Given the description of an element on the screen output the (x, y) to click on. 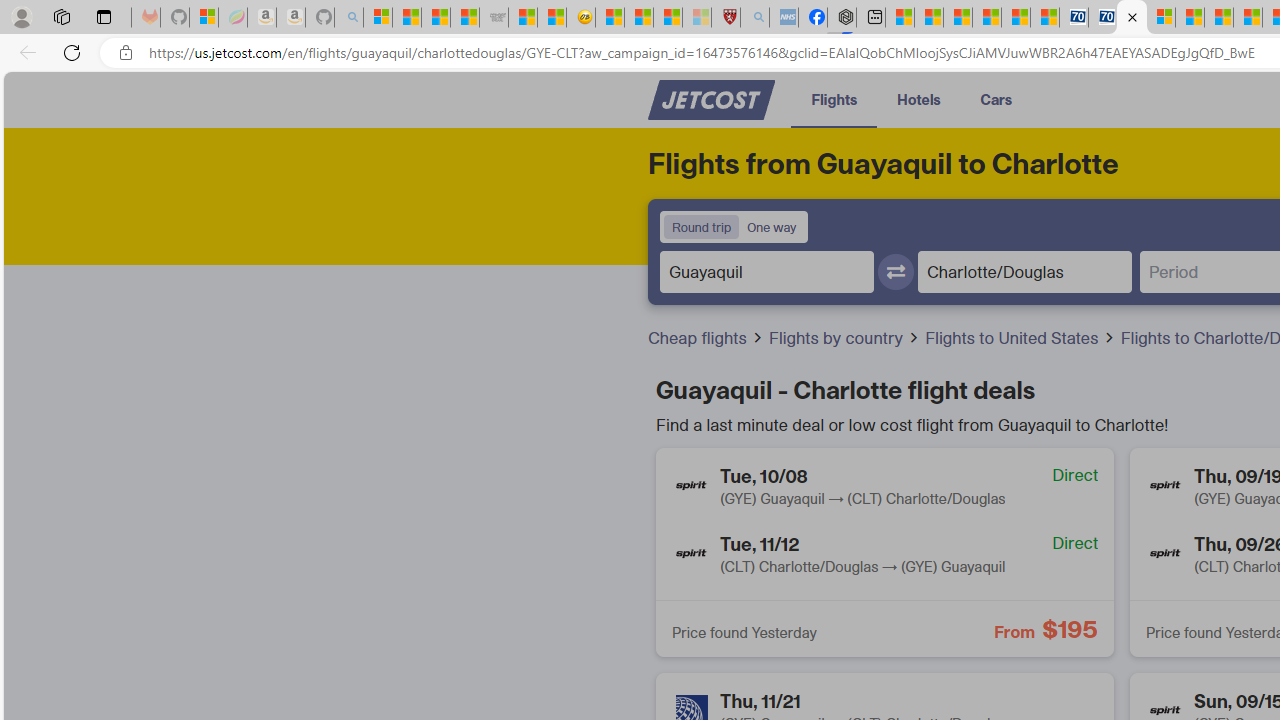
Arrival place (1024, 271)
Flights to United States (1014, 337)
